Given the description of an element on the screen output the (x, y) to click on. 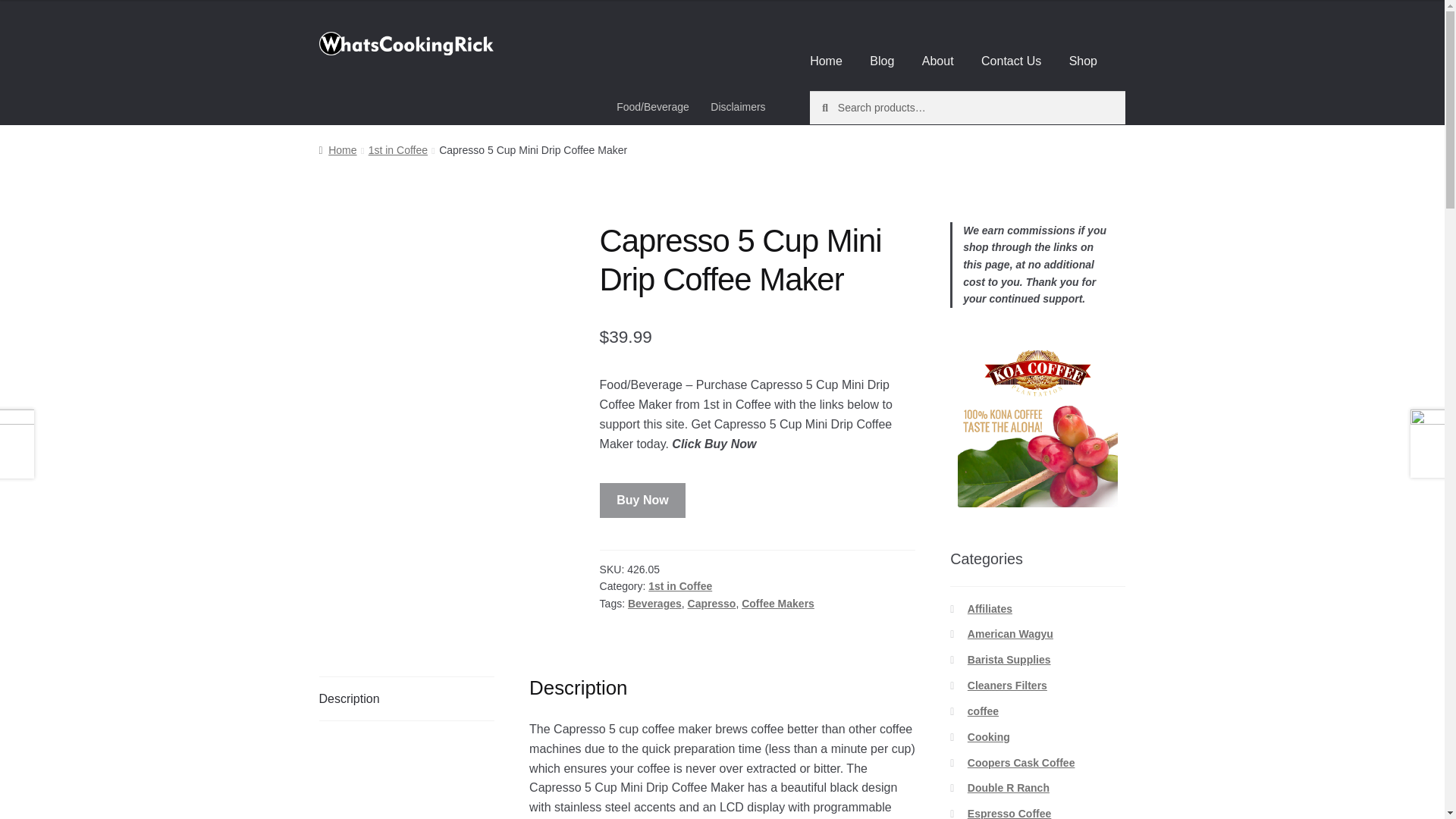
About (938, 60)
Home (825, 60)
Disclaimers (737, 106)
Buy Now (642, 500)
1st in Coffee (679, 585)
Contact Us (1010, 60)
1st in Coffee (398, 150)
Home (337, 150)
